Given the description of an element on the screen output the (x, y) to click on. 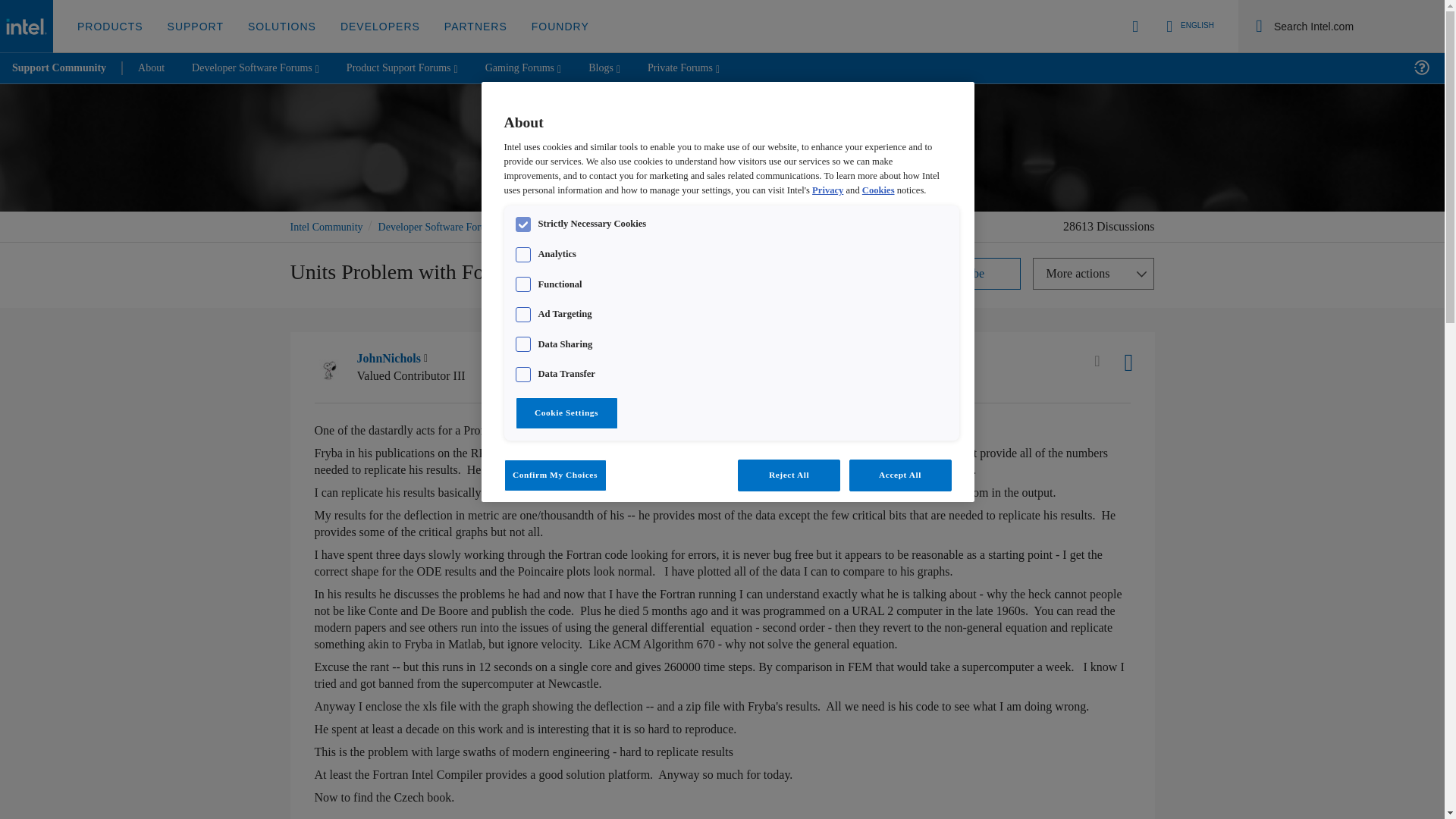
Language Selector (1187, 26)
Show option menu (1093, 273)
Posted on (550, 367)
JohnNichols (328, 365)
PRODUCTS (110, 26)
